Given the description of an element on the screen output the (x, y) to click on. 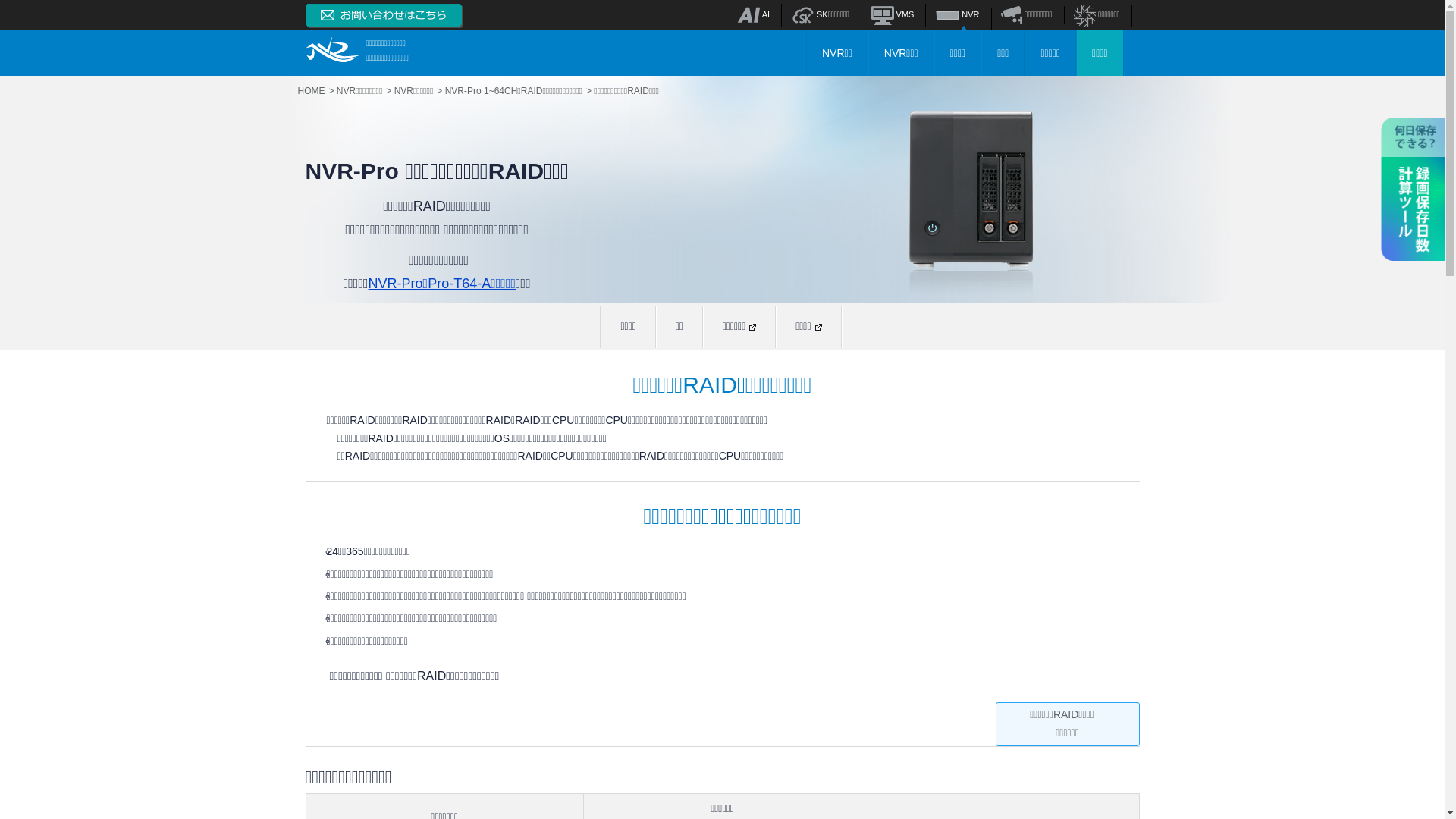
HOME Element type: text (315, 90)
NVR Element type: text (957, 13)
AI Element type: text (753, 13)
VMS Element type: text (892, 13)
